Given the description of an element on the screen output the (x, y) to click on. 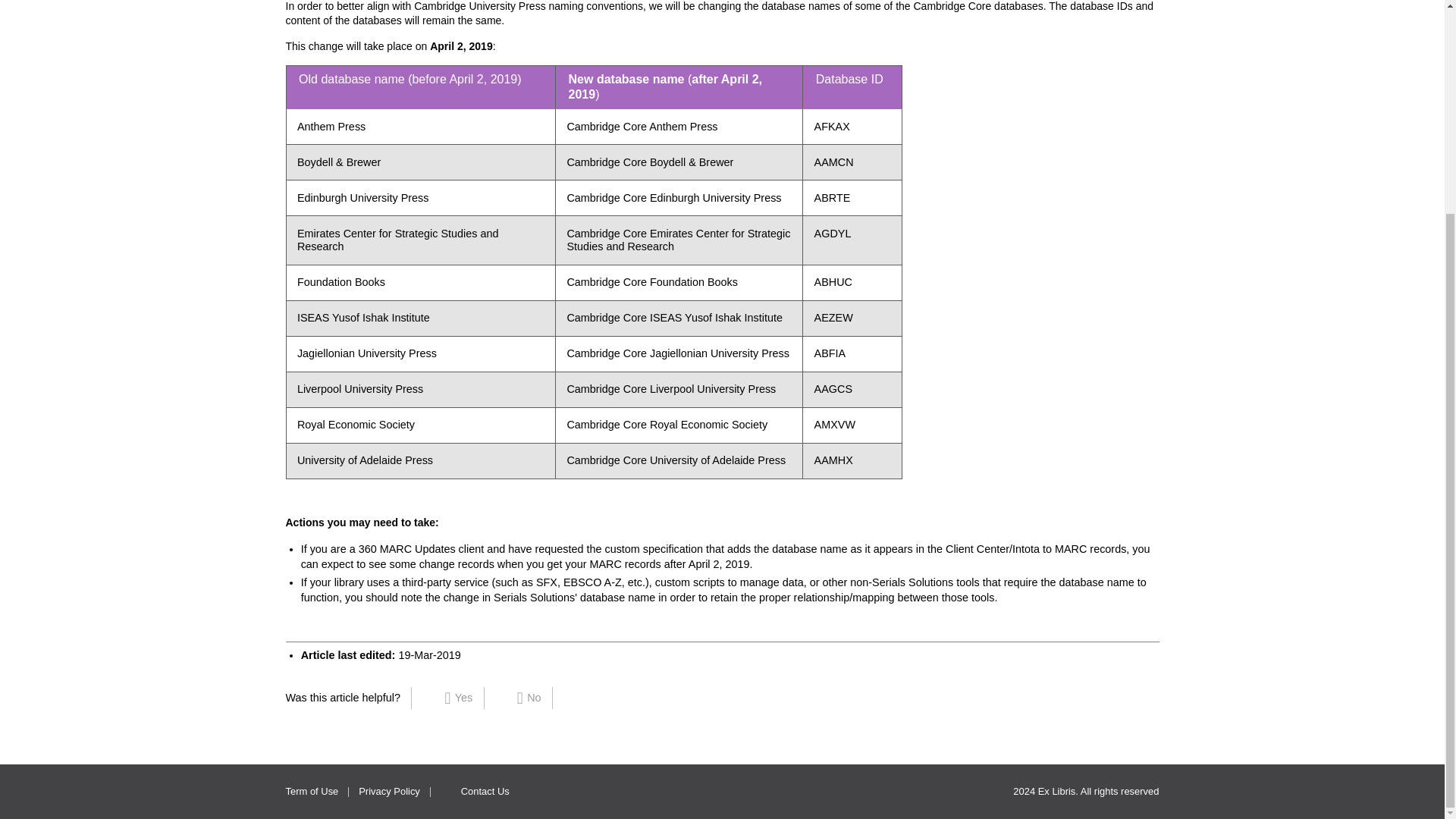
Yes (459, 698)
